Given the description of an element on the screen output the (x, y) to click on. 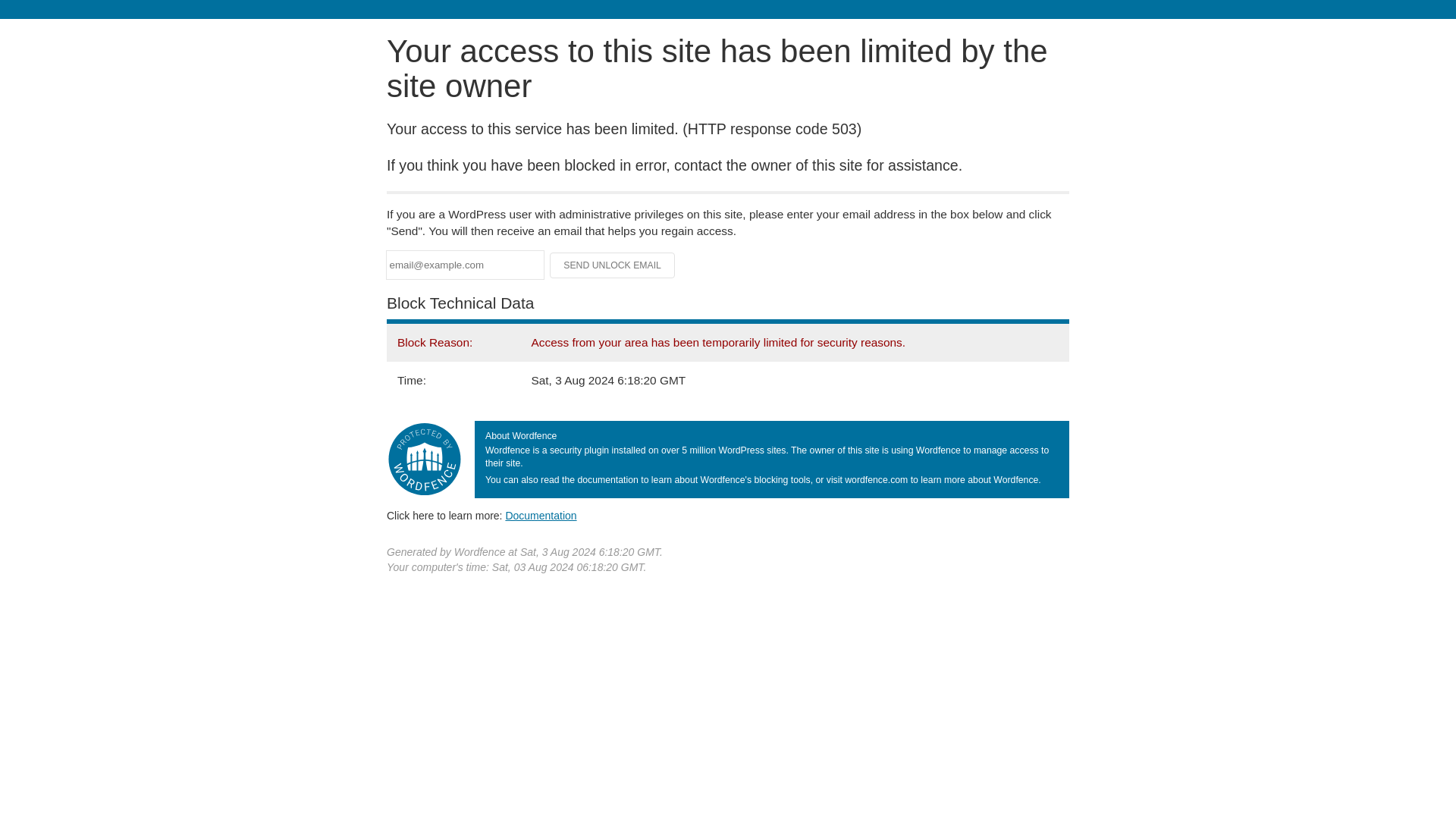
Send Unlock Email (612, 265)
Documentation (540, 515)
Send Unlock Email (612, 265)
